Given the description of an element on the screen output the (x, y) to click on. 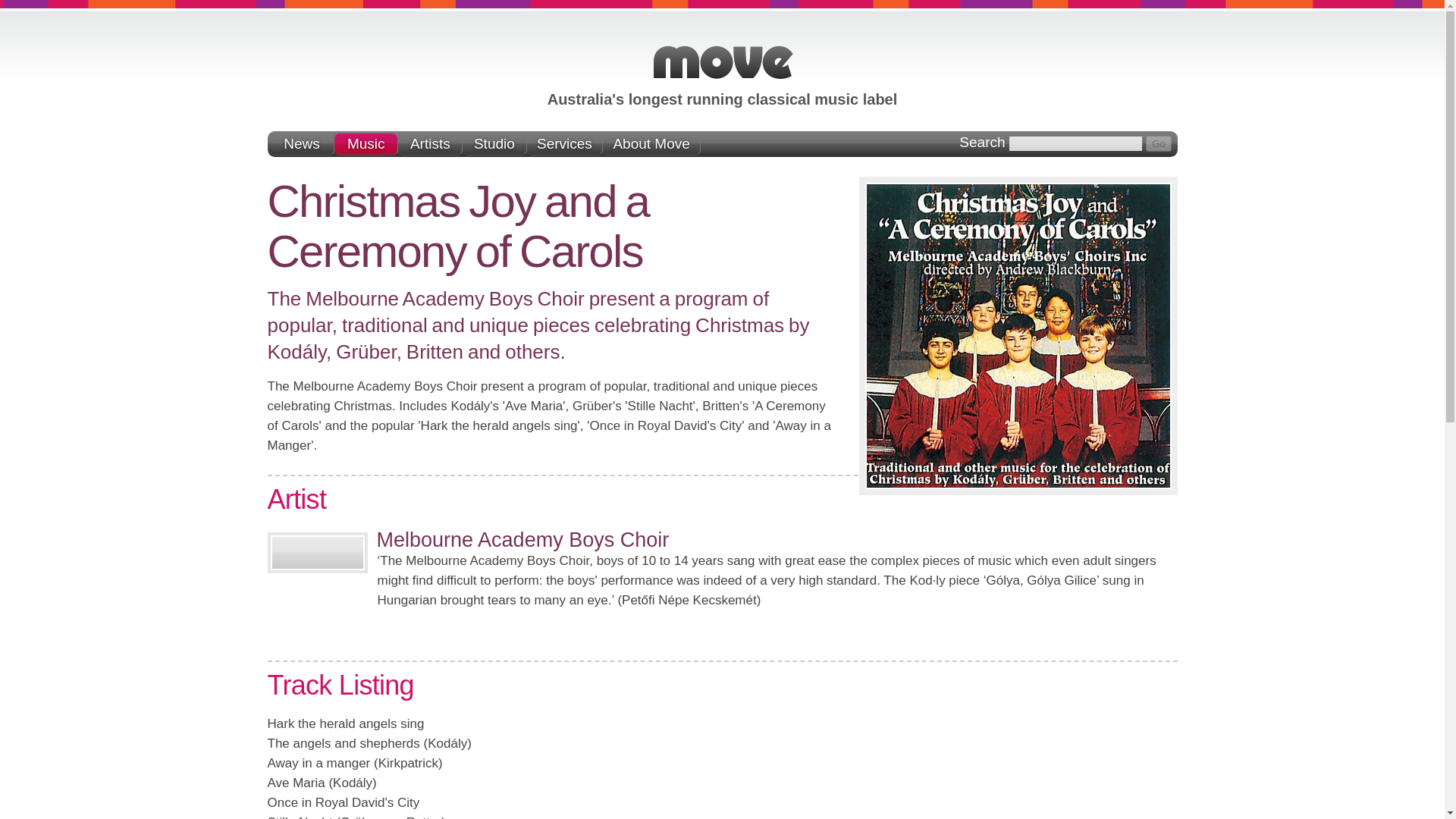
News (301, 144)
Studio (495, 144)
Melbourne Academy Boys Choir (521, 539)
Music (366, 144)
Go (1158, 143)
Services (564, 144)
Artists (430, 144)
Go (1158, 143)
About Move (651, 144)
